Given the description of an element on the screen output the (x, y) to click on. 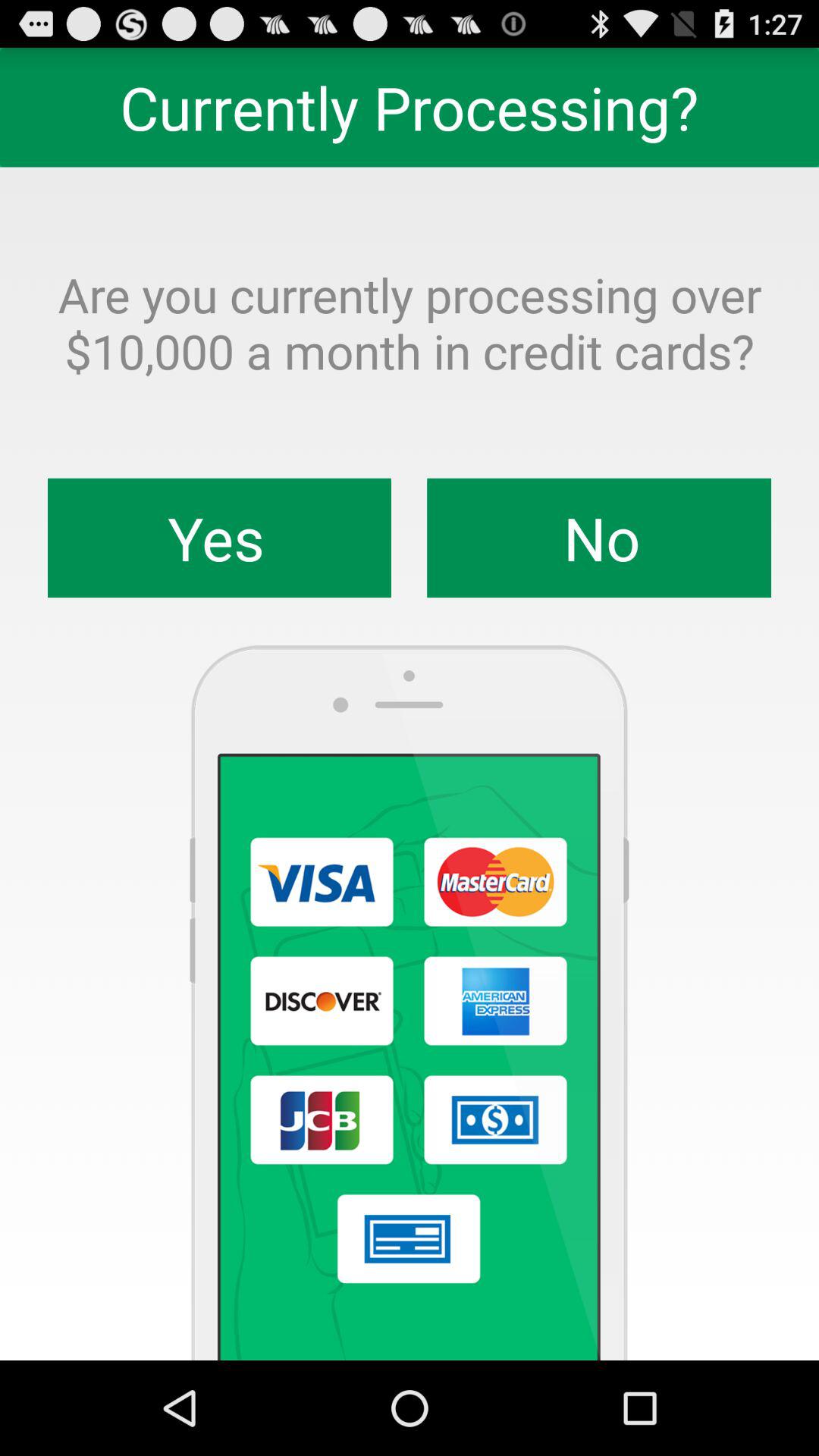
select the icon next to the no item (219, 537)
